Given the description of an element on the screen output the (x, y) to click on. 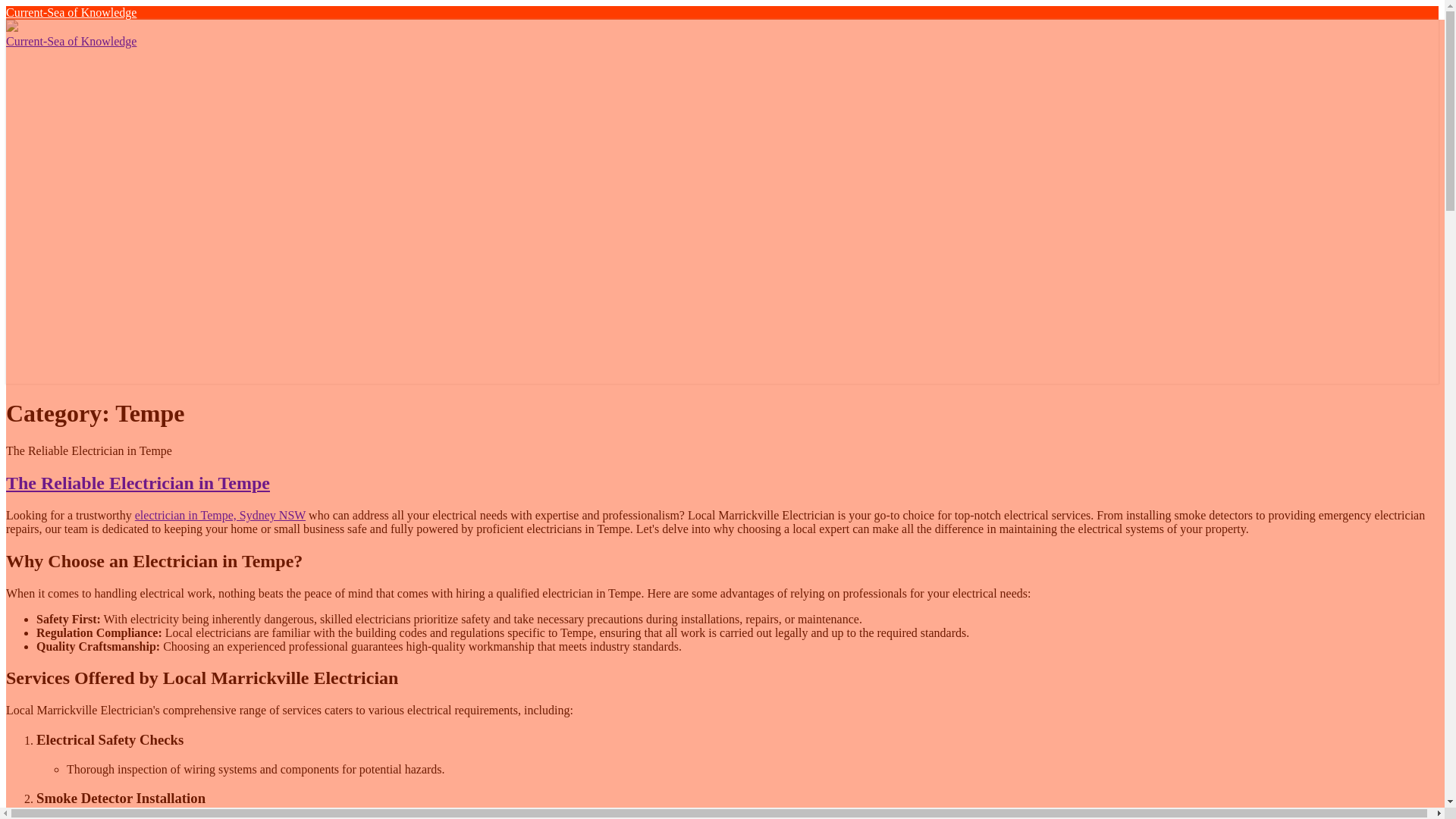
electrician in Tempe, Sydney NSW (220, 514)
The Reliable Electrician in Tempe (137, 483)
Current-Sea of Knowledge (70, 11)
